Given the description of an element on the screen output the (x, y) to click on. 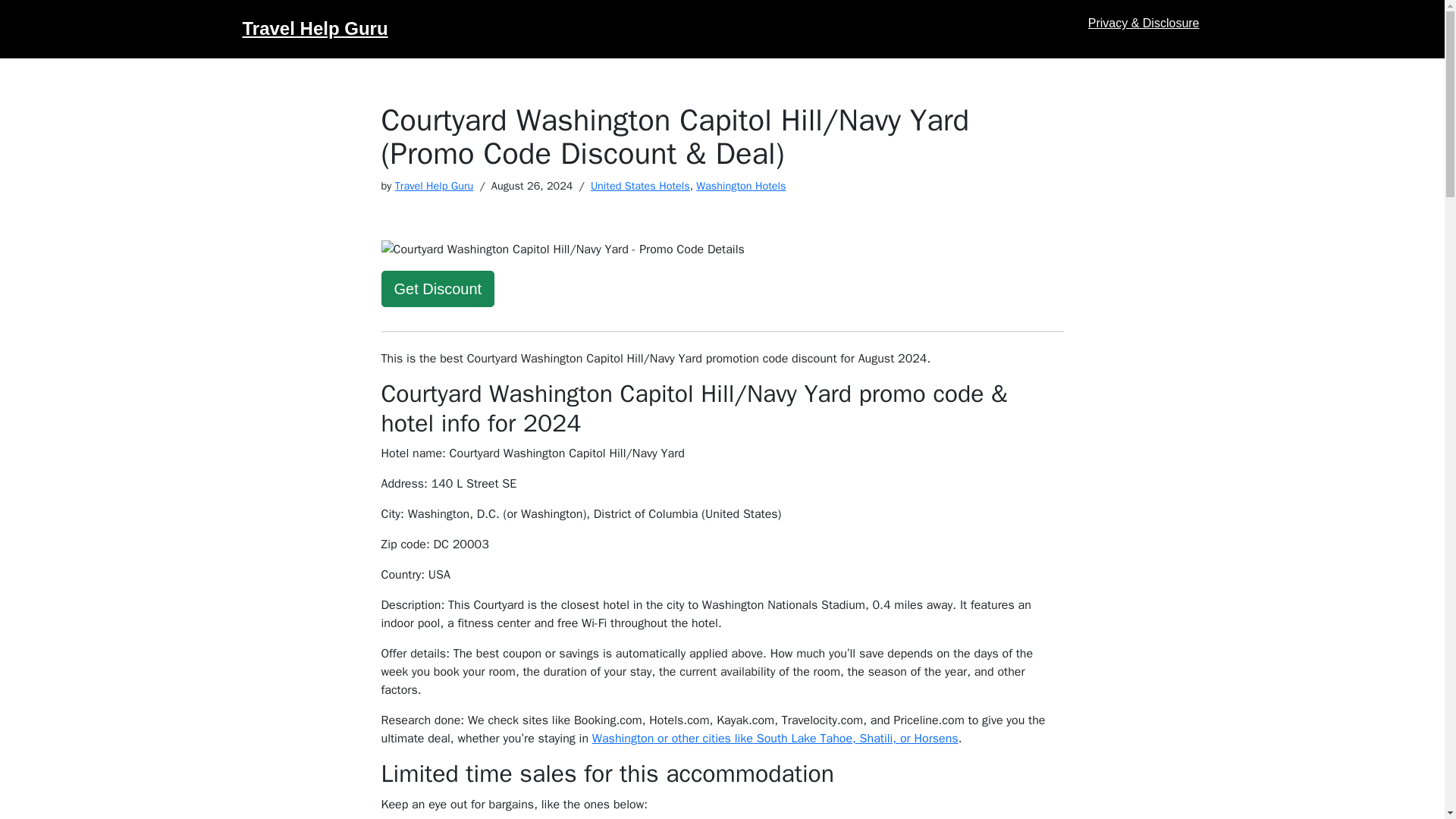
United States Hotels (640, 185)
Skip to content (11, 31)
Get Discount (437, 289)
Posts by Travel Help Guru (434, 185)
Travel Help Guru (434, 185)
Travel Help Guru (315, 29)
Washington Hotels (740, 185)
